Given the description of an element on the screen output the (x, y) to click on. 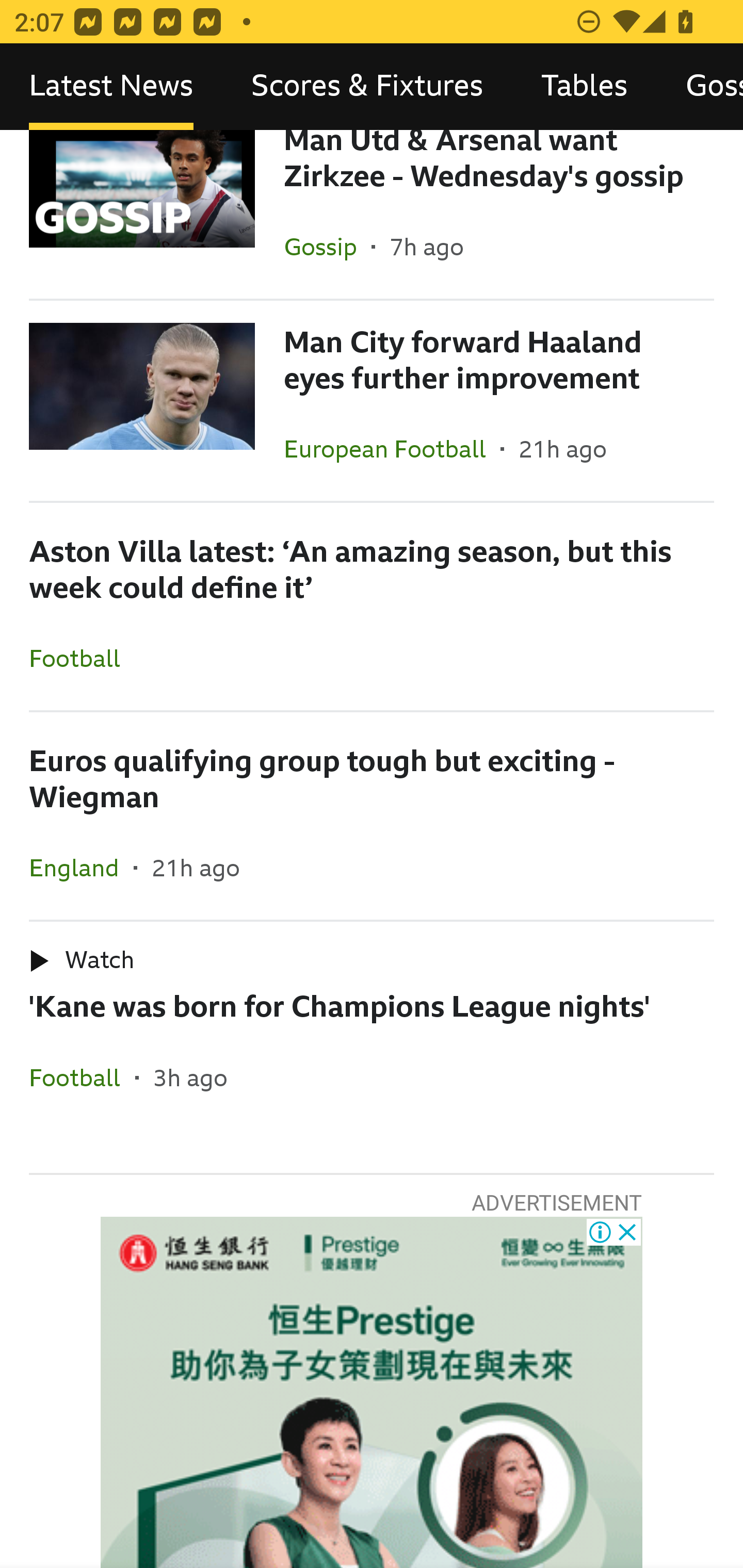
Latest News, selected Latest News (111, 86)
Scores & Fixtures (367, 86)
Tables (584, 86)
European Football In the section European Football (391, 448)
England In the section England (80, 867)
Advertisement (371, 1392)
